Given the description of an element on the screen output the (x, y) to click on. 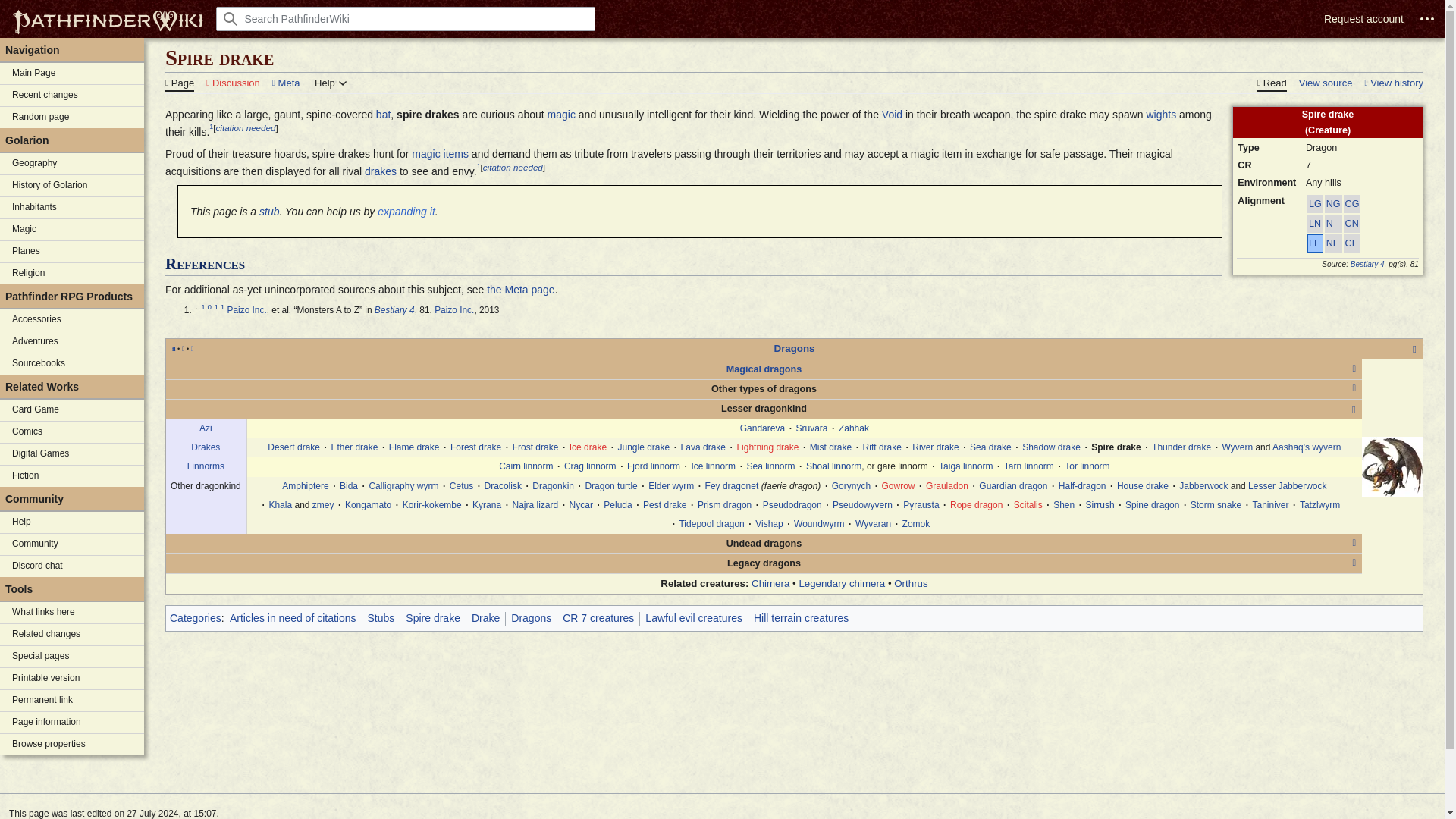
Search (230, 18)
Browse properties (72, 744)
Inhabitants (72, 207)
Permanent link to this revision of this page (72, 700)
Card Game (72, 409)
Religion (72, 273)
Discord chat (72, 566)
Digital Games (72, 454)
Meta (285, 81)
What links here (72, 612)
